Given the description of an element on the screen output the (x, y) to click on. 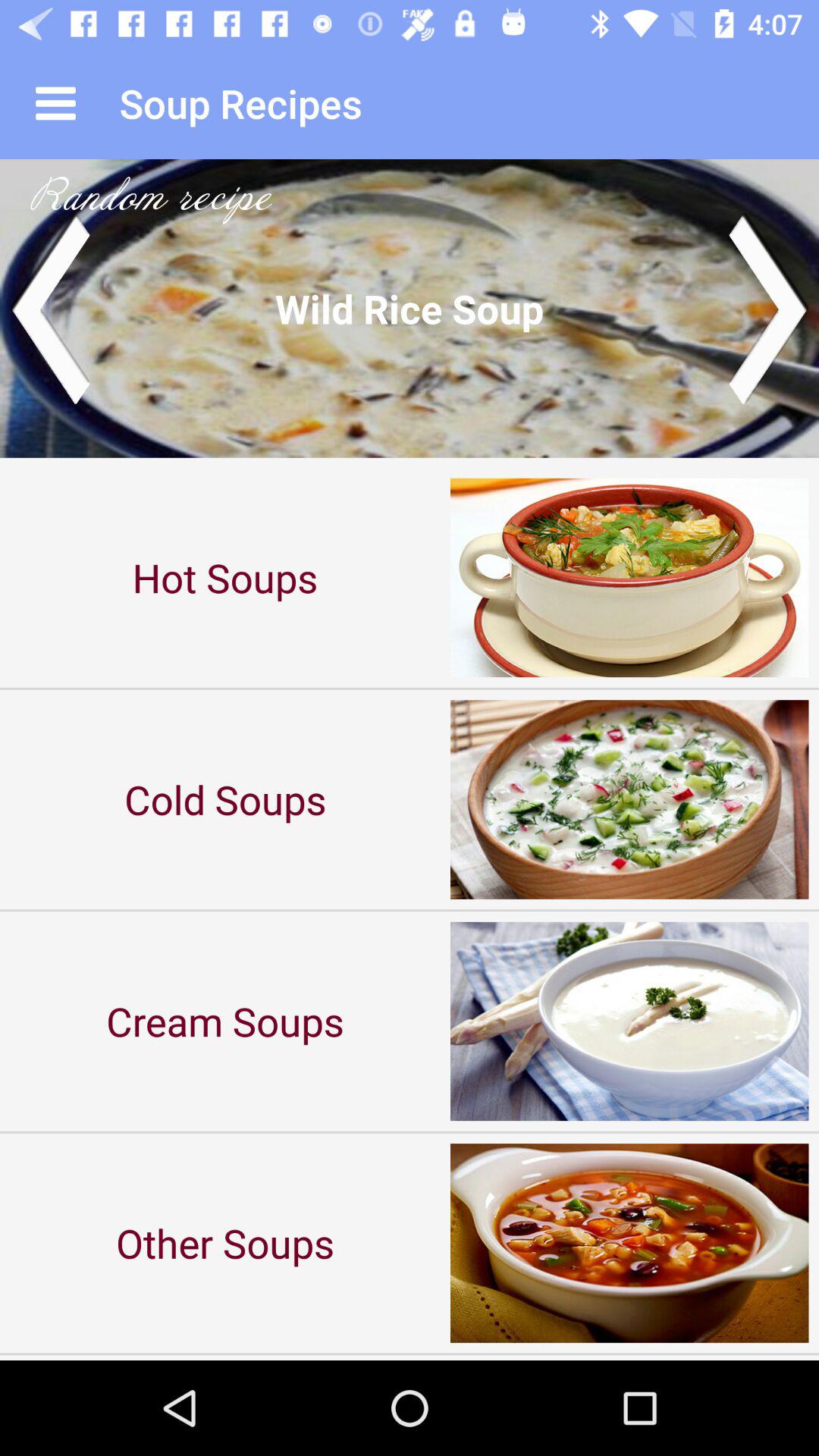
launch the hot soups icon (225, 577)
